Given the description of an element on the screen output the (x, y) to click on. 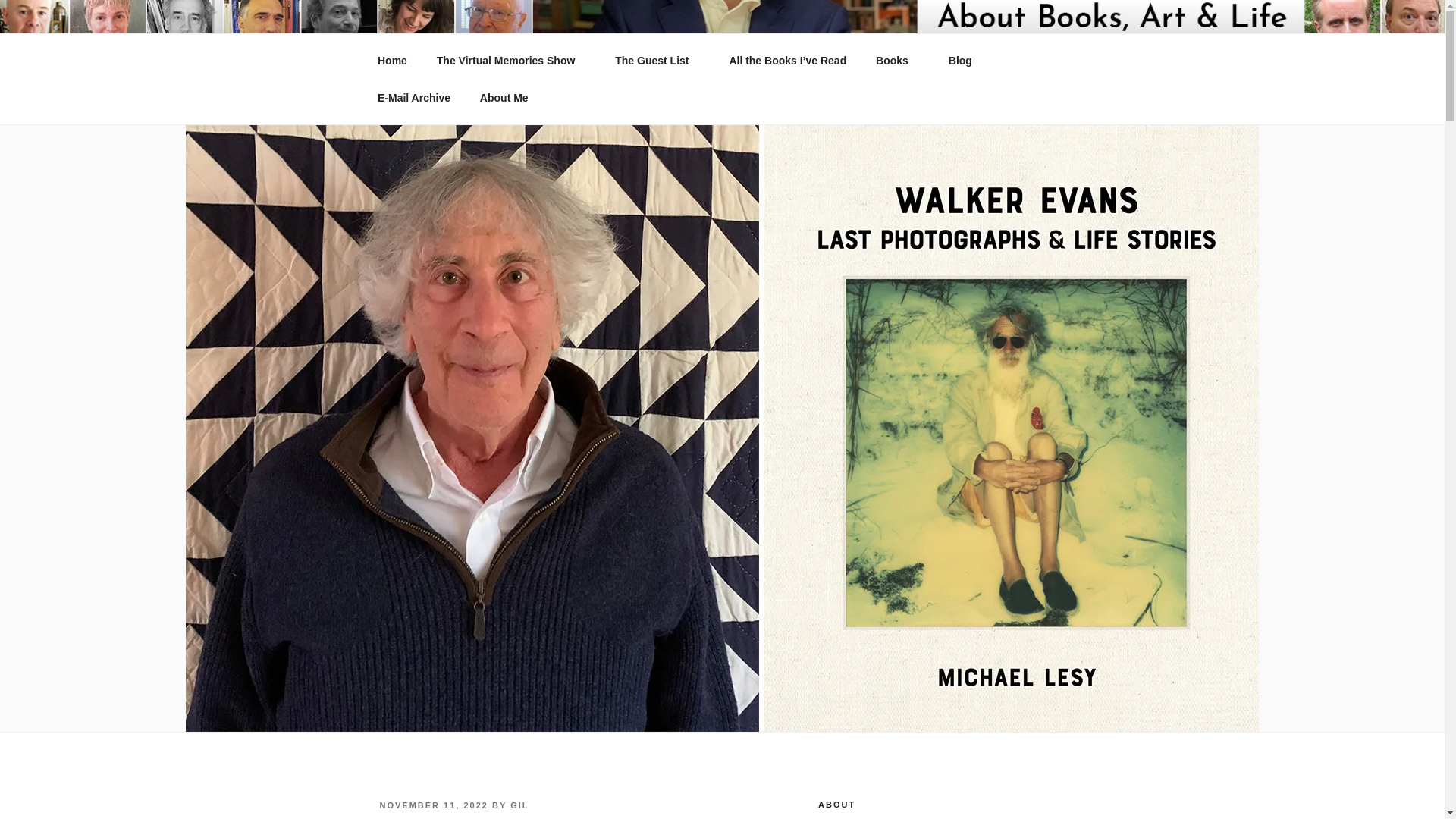
Books (898, 60)
NOVEMBER 11, 2022 (432, 804)
The Guest List (657, 60)
The Virtual Memories Show (510, 60)
THE VIRTUAL MEMORIES SHOW (619, 52)
Blog (959, 60)
Home (392, 60)
GIL (519, 804)
E-Mail Archive (413, 97)
About Me (503, 97)
